Given the description of an element on the screen output the (x, y) to click on. 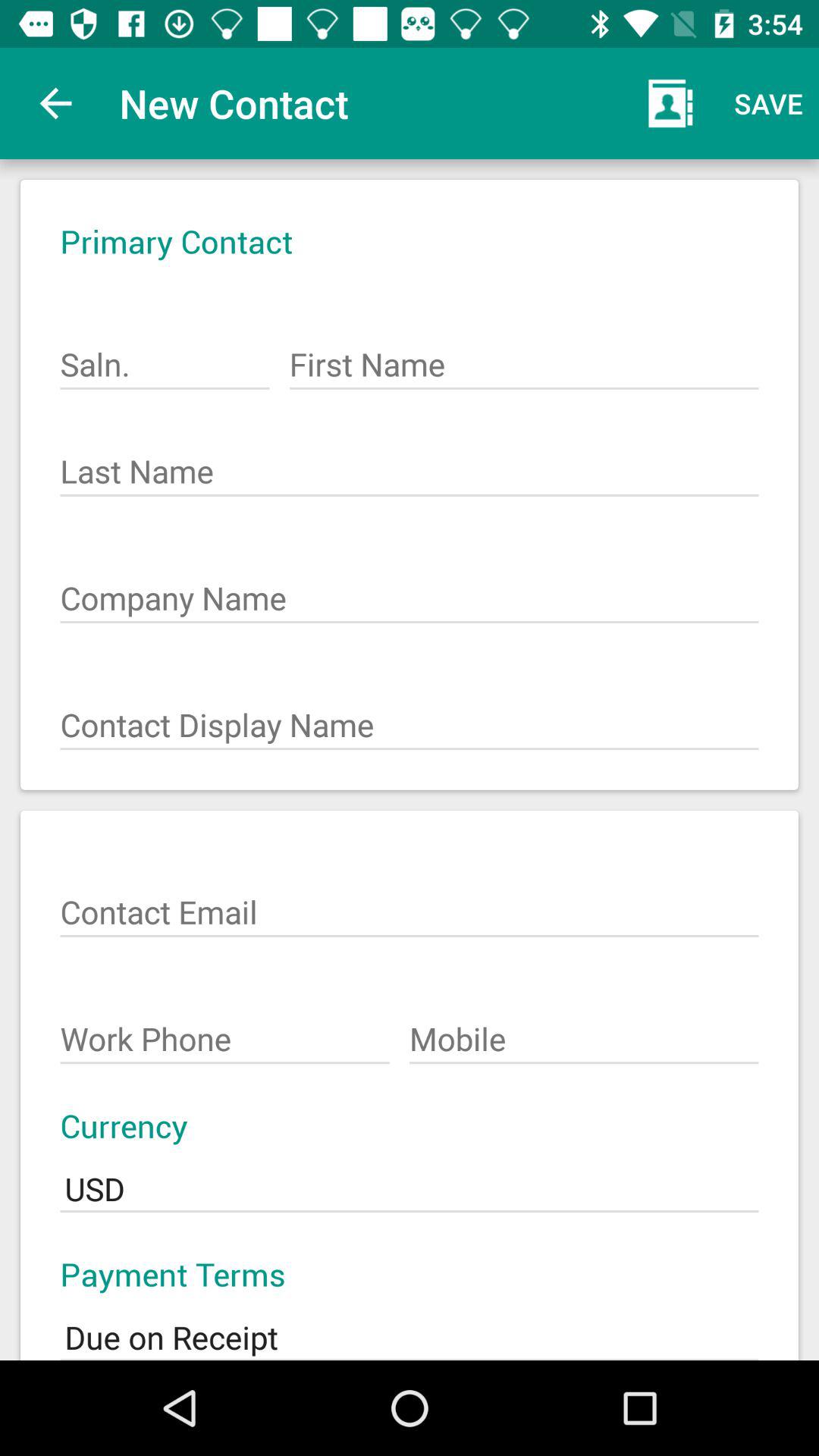
open item below the primary contact icon (523, 356)
